Given the description of an element on the screen output the (x, y) to click on. 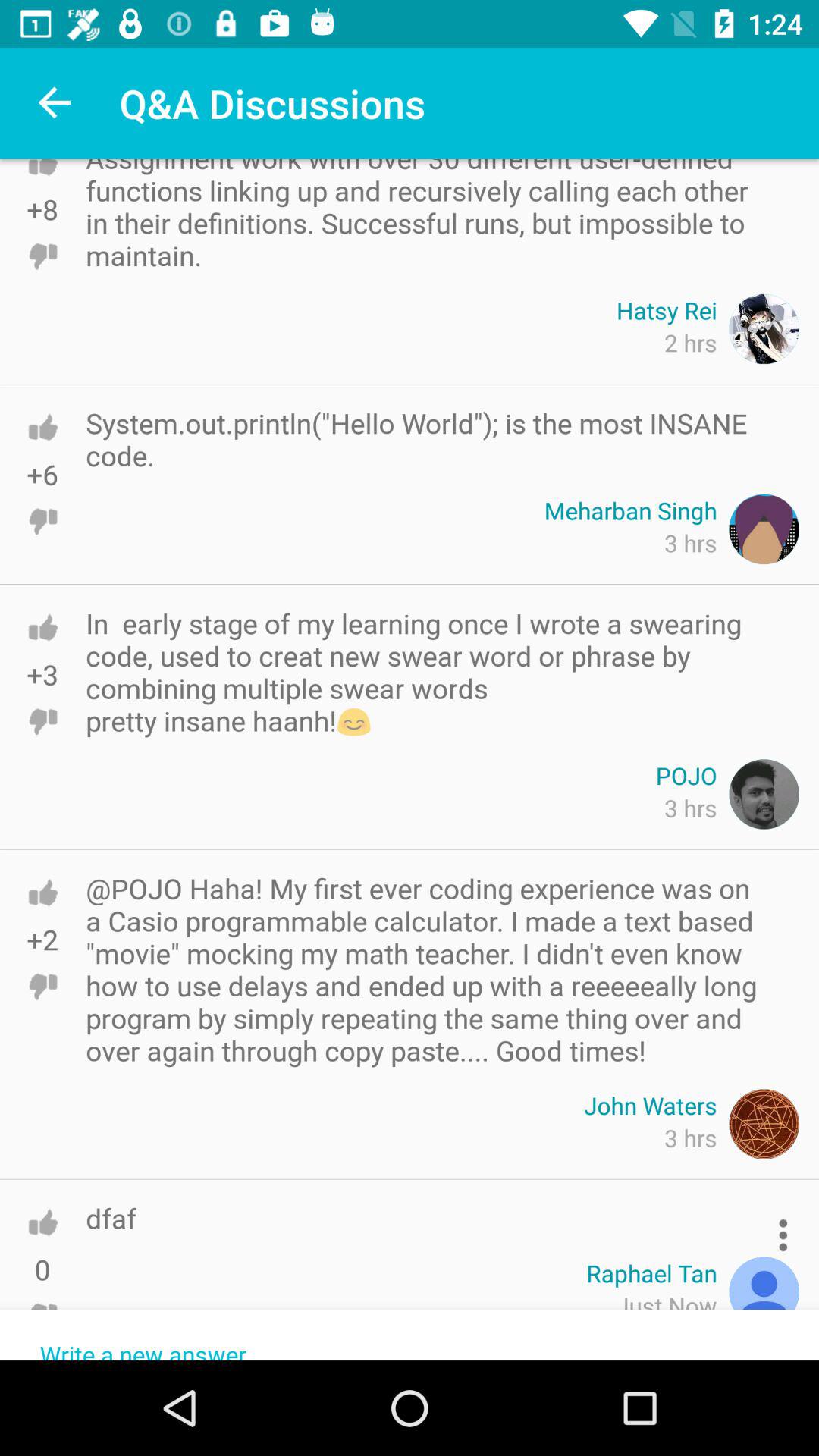
thumbs up the post (42, 182)
